Given the description of an element on the screen output the (x, y) to click on. 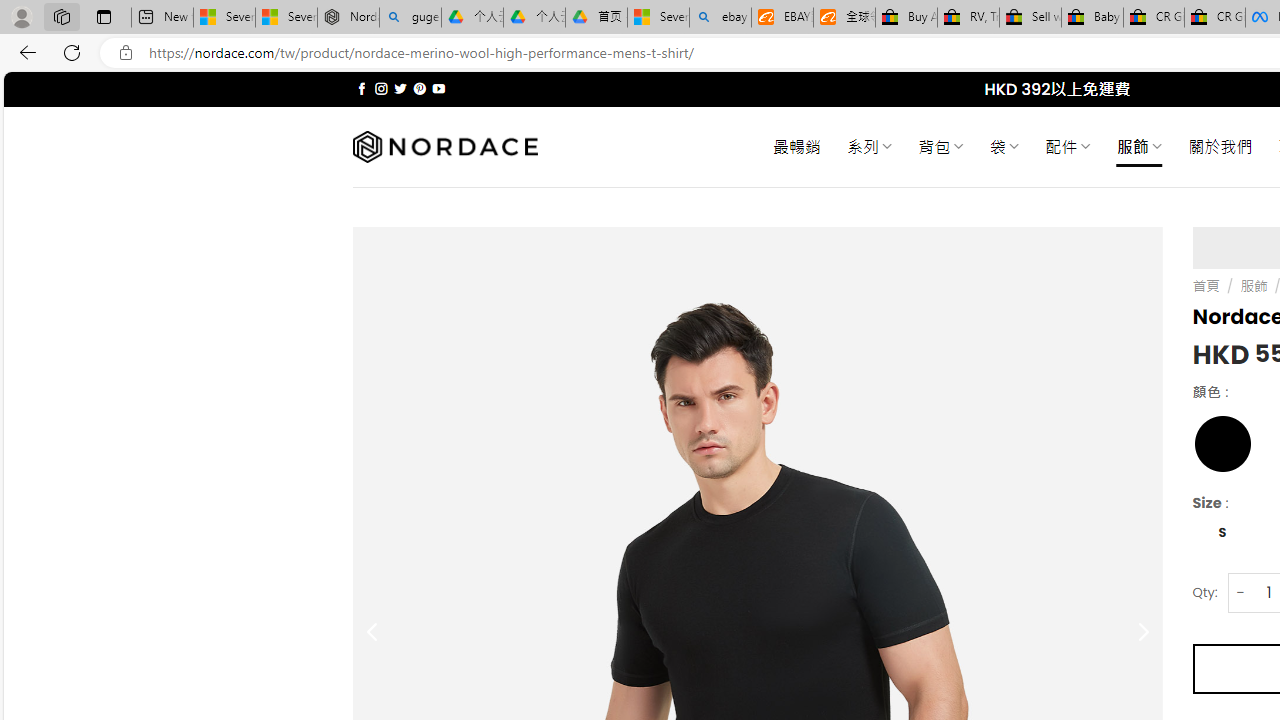
Follow on Twitter (400, 88)
ebay - Search (720, 17)
Follow on Pinterest (419, 88)
guge yunpan - Search (410, 17)
Baby Keepsakes & Announcements for sale | eBay (1092, 17)
